Given the description of an element on the screen output the (x, y) to click on. 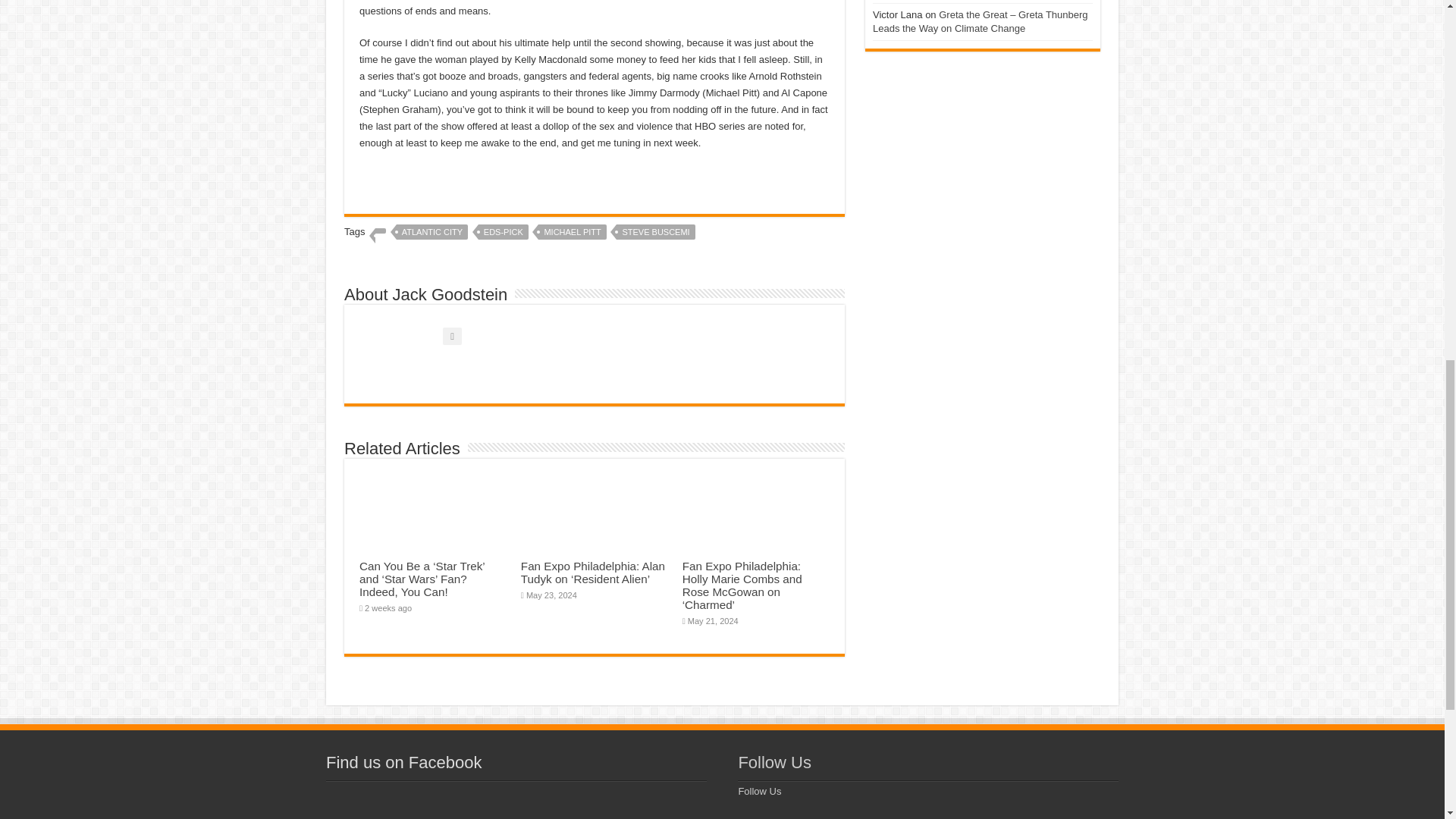
Scroll To Top (1421, 60)
